Given the description of an element on the screen output the (x, y) to click on. 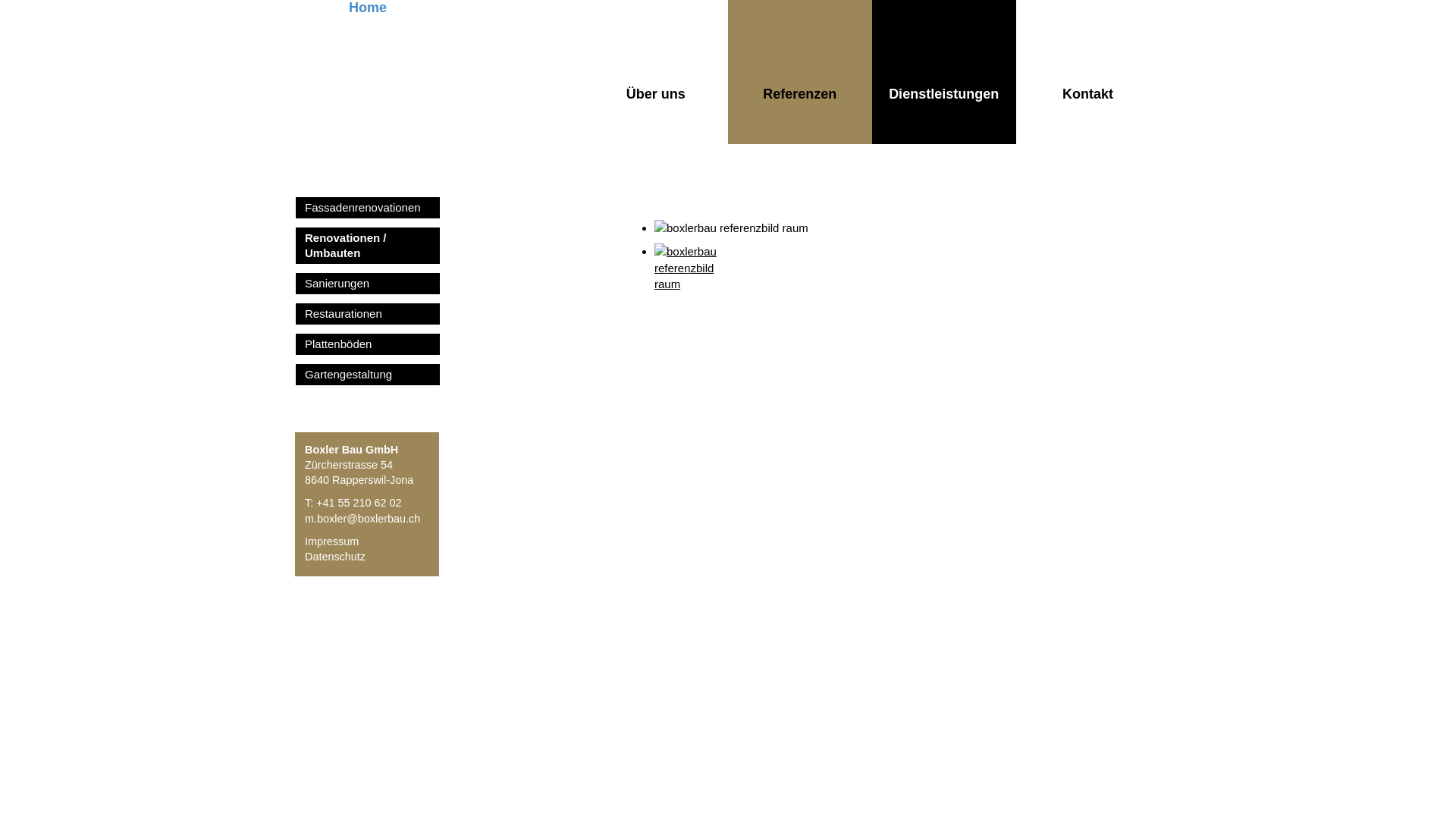
Sanierungen Element type: text (367, 283)
Kontakt Element type: text (1088, 72)
Referenzen Element type: text (800, 72)
Renovationen / Umbauten Element type: text (367, 245)
Gartengestaltung Element type: text (367, 374)
m.boxler@boxlerbau.ch Element type: text (362, 518)
Dienstleistungen Element type: text (944, 72)
Datenschutz Element type: text (334, 556)
boxlerbau referenzbild raum Element type: hover (895, 227)
Impressum Element type: text (331, 541)
Home Element type: text (367, 72)
boxlerbau referenzbild raum Element type: hover (691, 280)
Restaurationen Element type: text (367, 313)
